Given the description of an element on the screen output the (x, y) to click on. 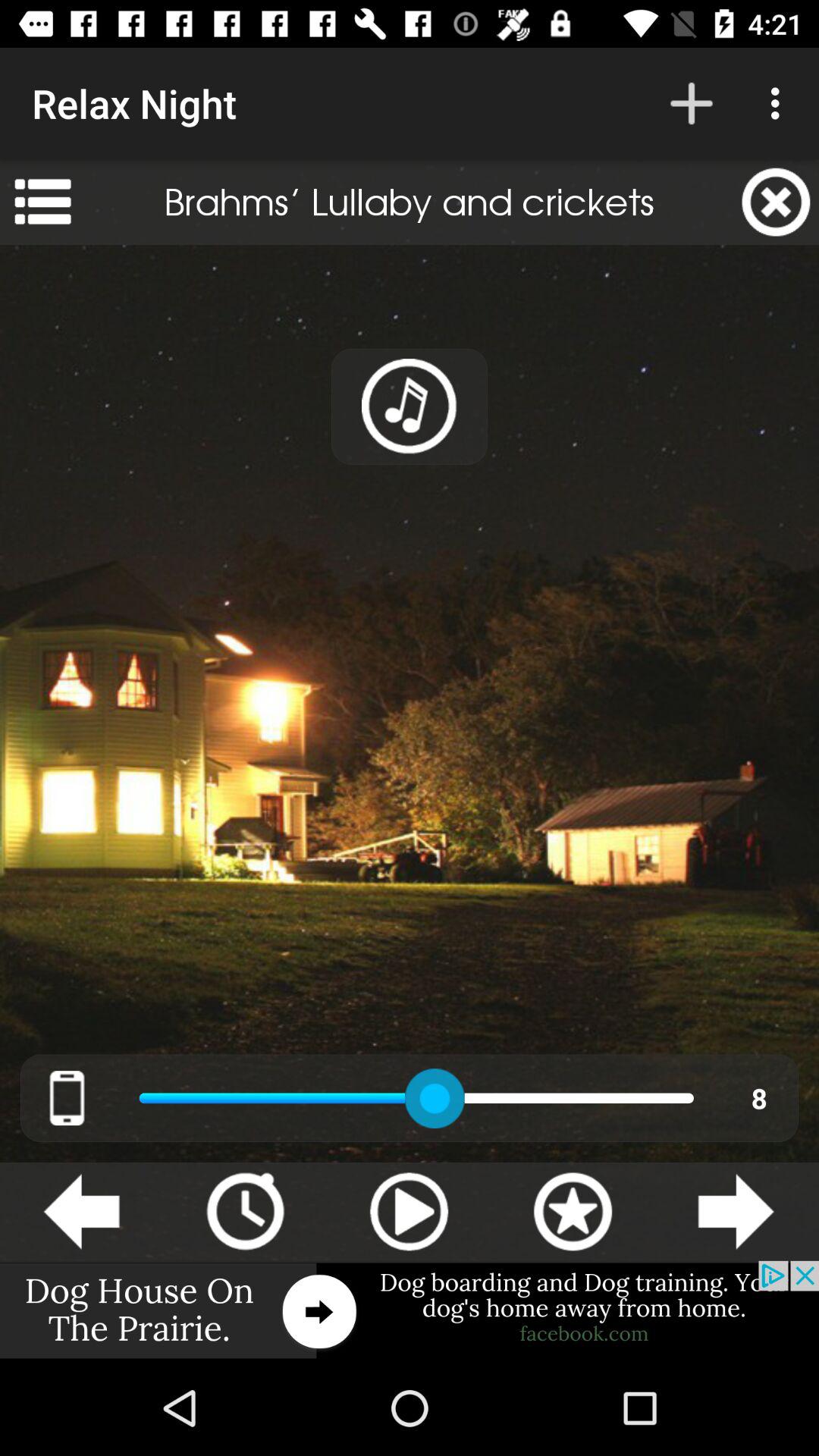
launch icon next to relax night item (691, 103)
